Given the description of an element on the screen output the (x, y) to click on. 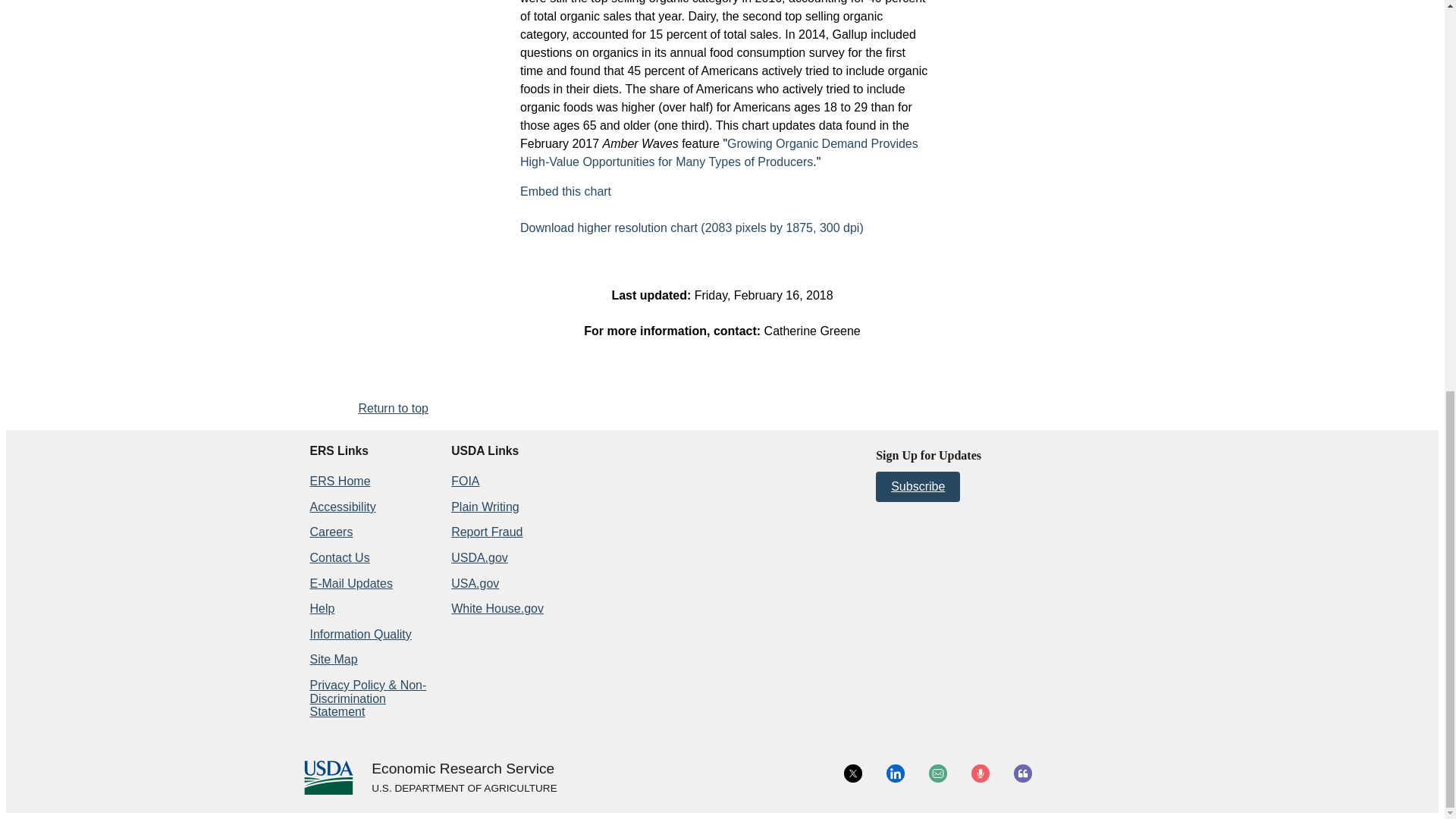
Fruits and vegetables top organic food sales (565, 191)
Careers (330, 531)
Email Icon (937, 773)
Home (462, 768)
E-Mail Updates (349, 583)
Multimedia Icon (979, 773)
Return to top (393, 408)
Help (321, 608)
LinkedIn icon (894, 773)
Embed this chart (565, 191)
Information Quality (359, 634)
ERS Home (338, 481)
USDA.gov (463, 788)
Blog Icon (1021, 773)
